Given the description of an element on the screen output the (x, y) to click on. 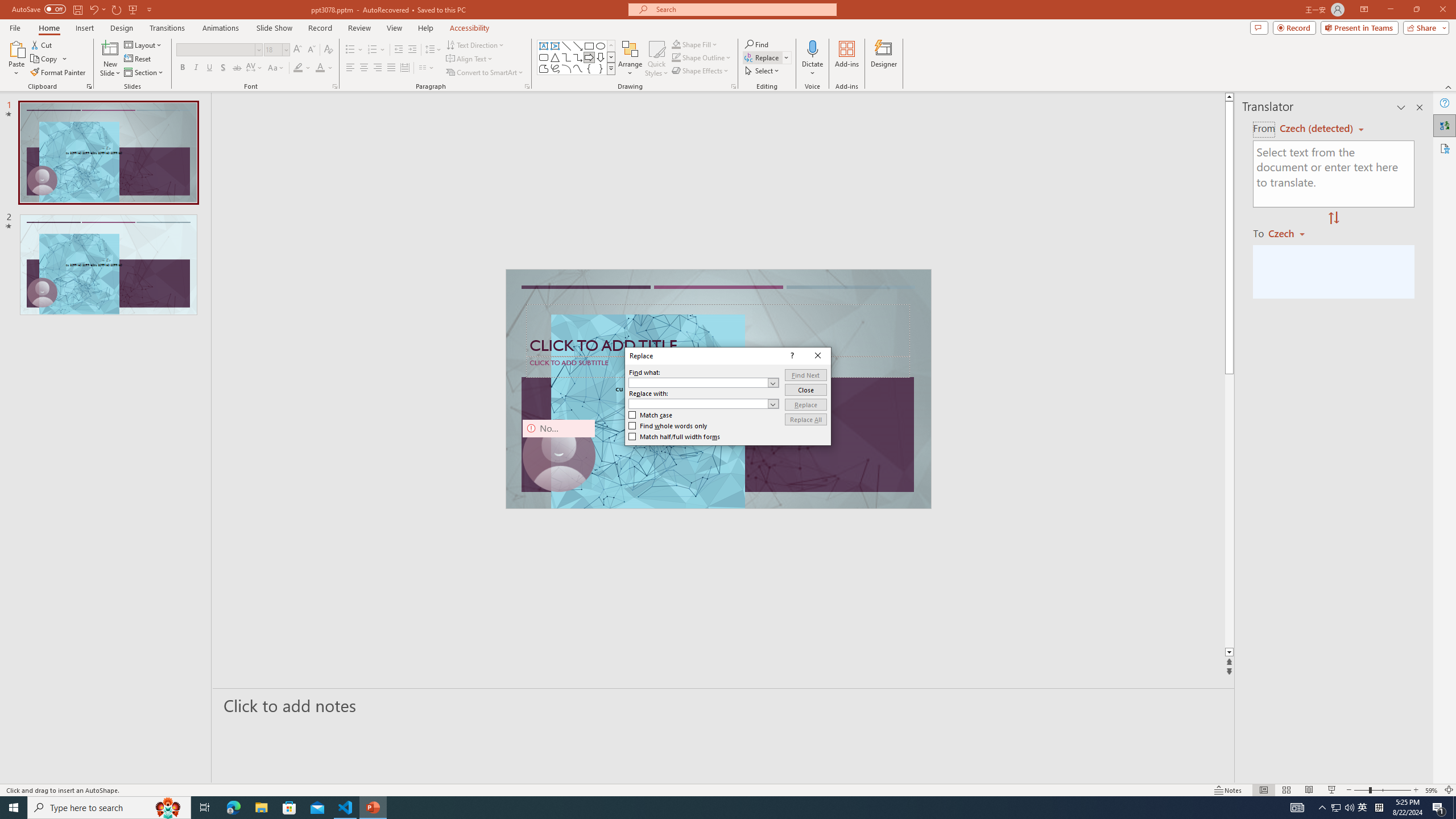
Match case (650, 414)
